Given the description of an element on the screen output the (x, y) to click on. 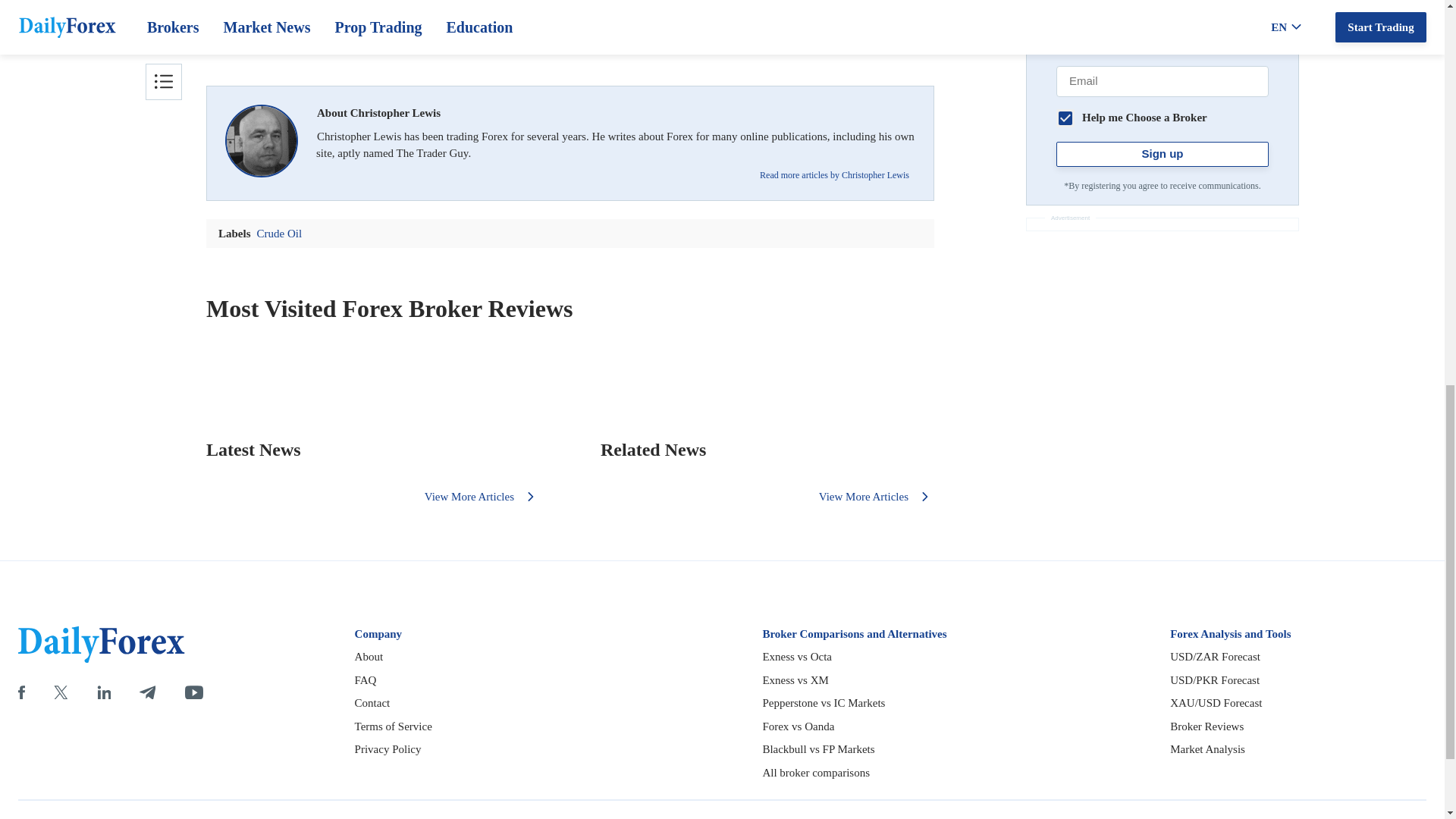
Crude Oil (570, 32)
Crude Oil (569, 24)
View More Articles (876, 496)
Christopher Lewis (261, 140)
View More Articles (482, 496)
